Given the description of an element on the screen output the (x, y) to click on. 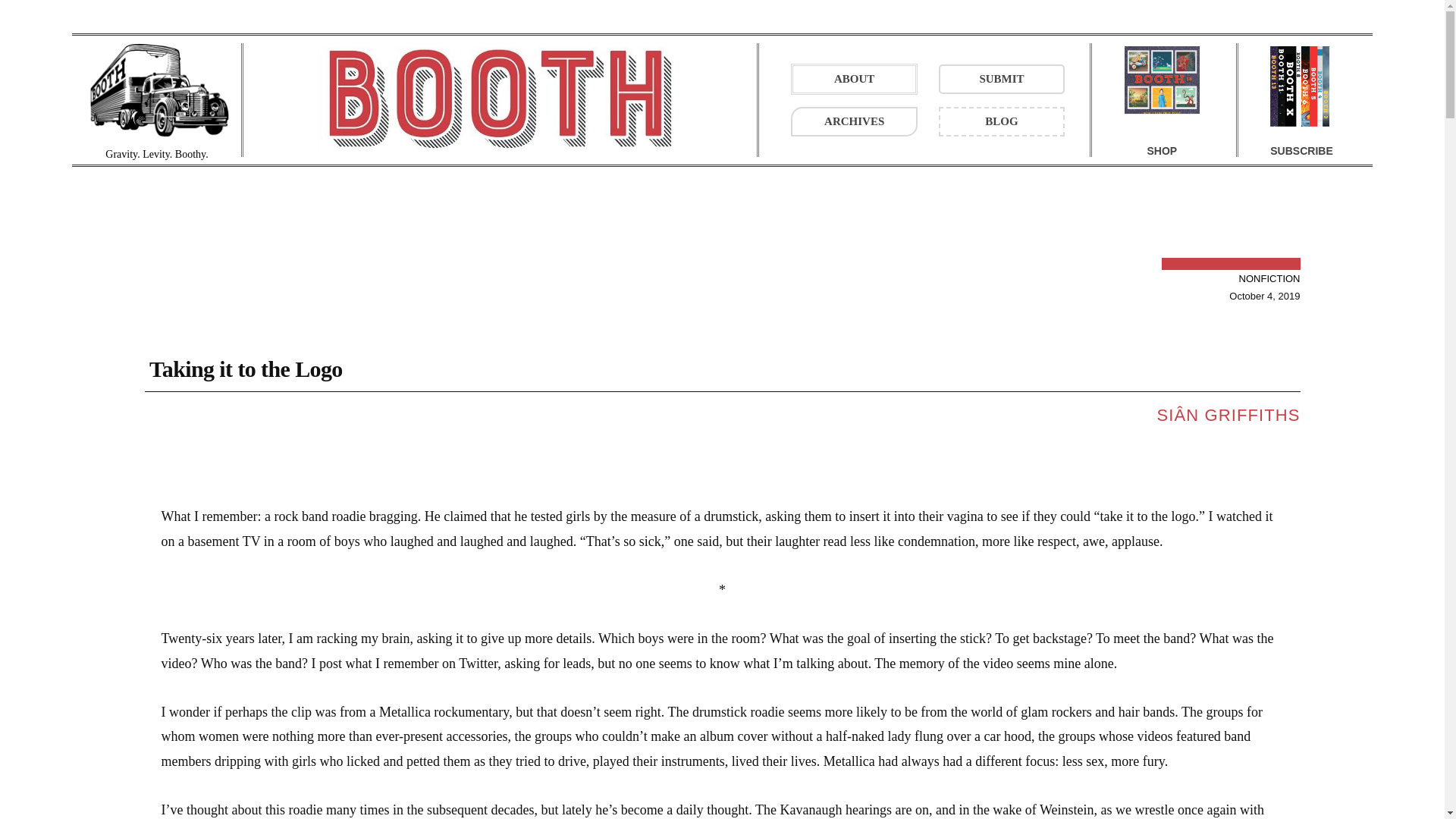
Gravity. Levity. Boothy. (157, 99)
ARCHIVES (853, 121)
NONFICTION (1269, 278)
BLOG (1002, 121)
ABOUT (853, 79)
SUBMIT (1002, 79)
